Given the description of an element on the screen output the (x, y) to click on. 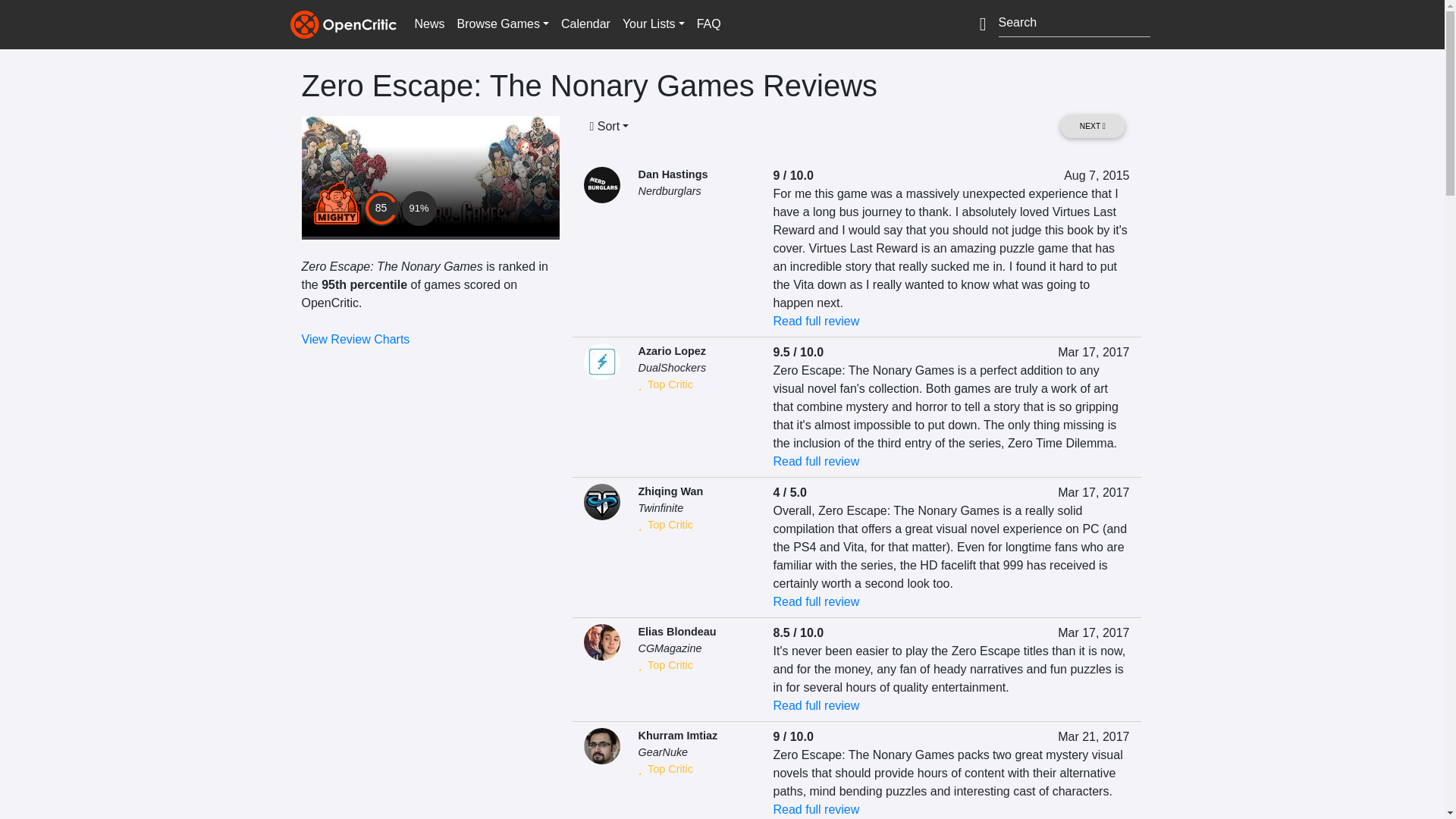
NEXT (1091, 126)
FAQ (708, 24)
View Review Charts (355, 338)
Nerdburglars (670, 191)
Your Lists (652, 24)
DualShockers (672, 367)
Calendar (584, 24)
Zhiqing Wan (671, 491)
Azario Lopez (672, 350)
Read full review (816, 320)
